Given the description of an element on the screen output the (x, y) to click on. 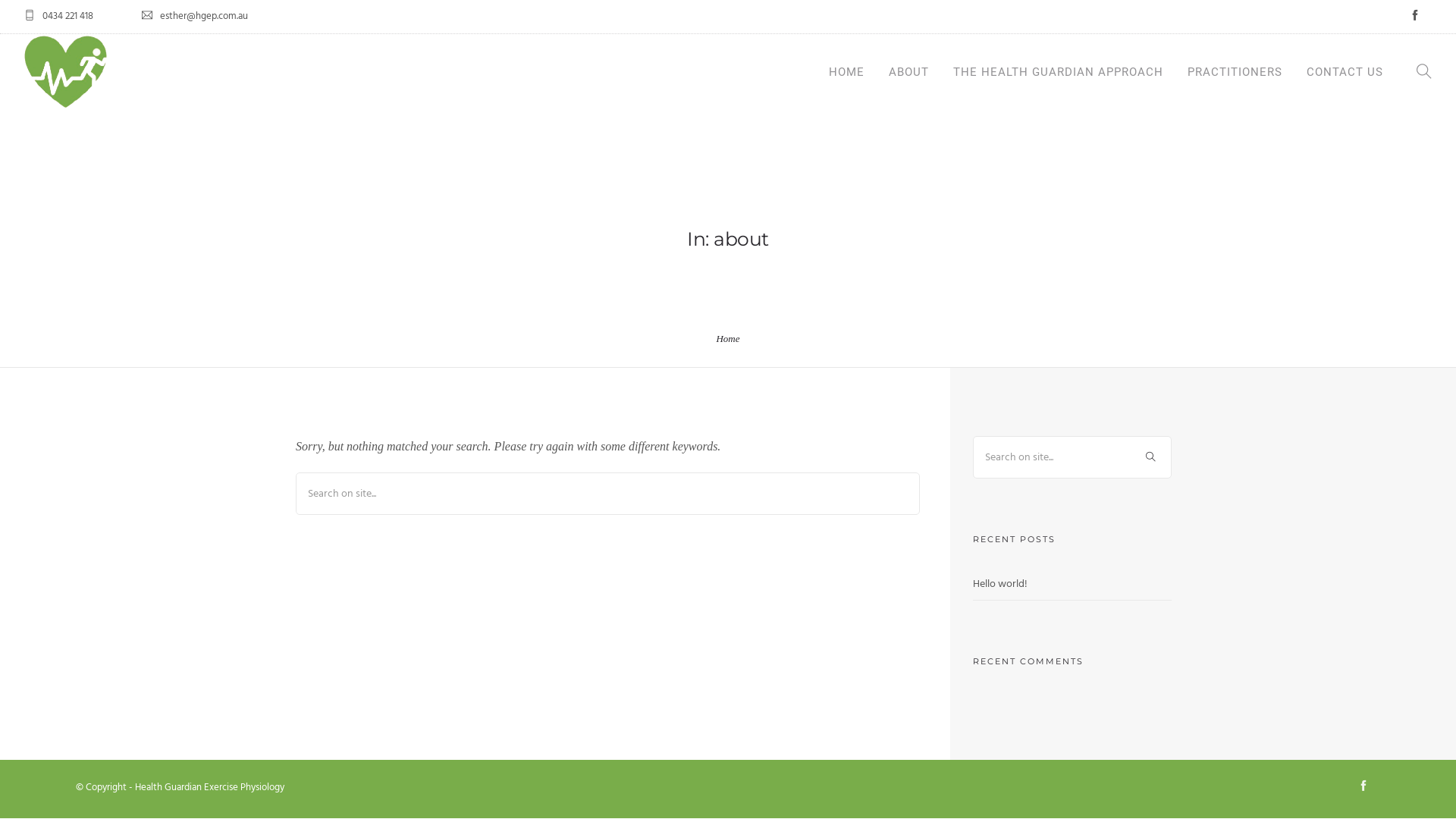
ABOUT Element type: text (908, 71)
HOME Element type: text (846, 71)
Hello world! Element type: text (999, 584)
Home Element type: text (727, 338)
PRACTITIONERS Element type: text (1234, 71)
CONTACT US Element type: text (1344, 71)
THE HEALTH GUARDIAN APPROACH Element type: text (1058, 71)
